Given the description of an element on the screen output the (x, y) to click on. 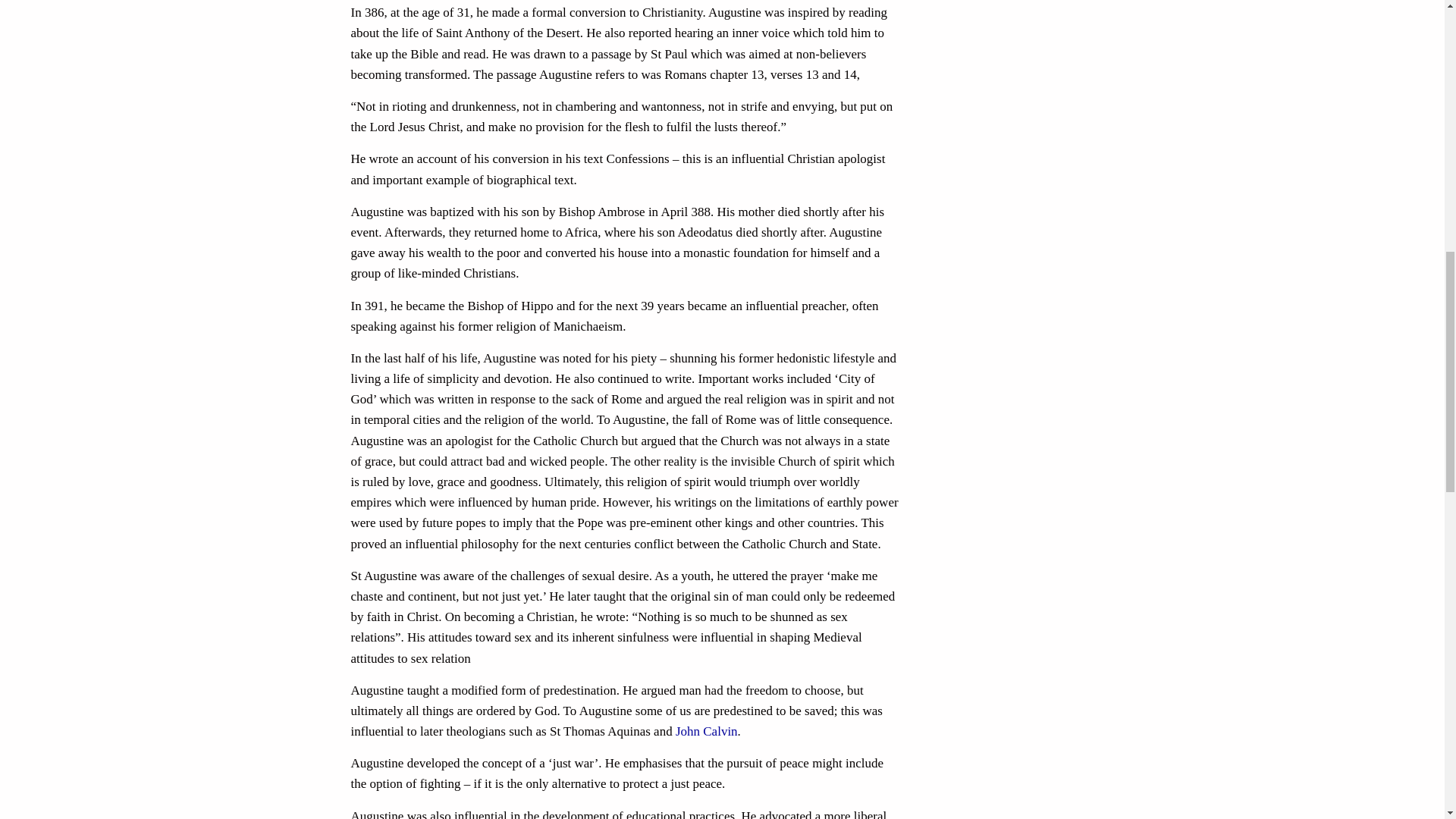
John Calvin (706, 730)
